Given the description of an element on the screen output the (x, y) to click on. 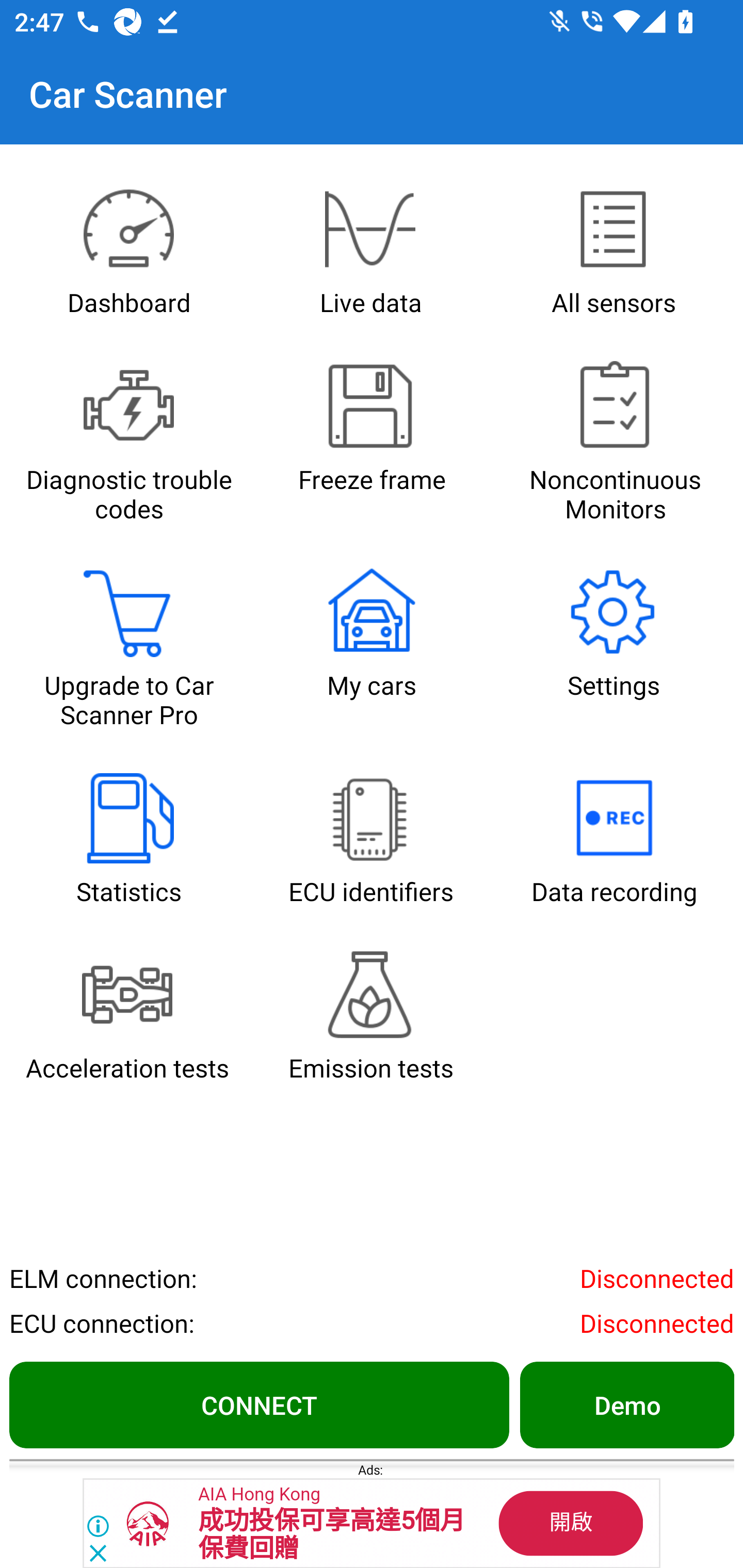
CONNECT (258, 1404)
Demo (627, 1404)
